Given the description of an element on the screen output the (x, y) to click on. 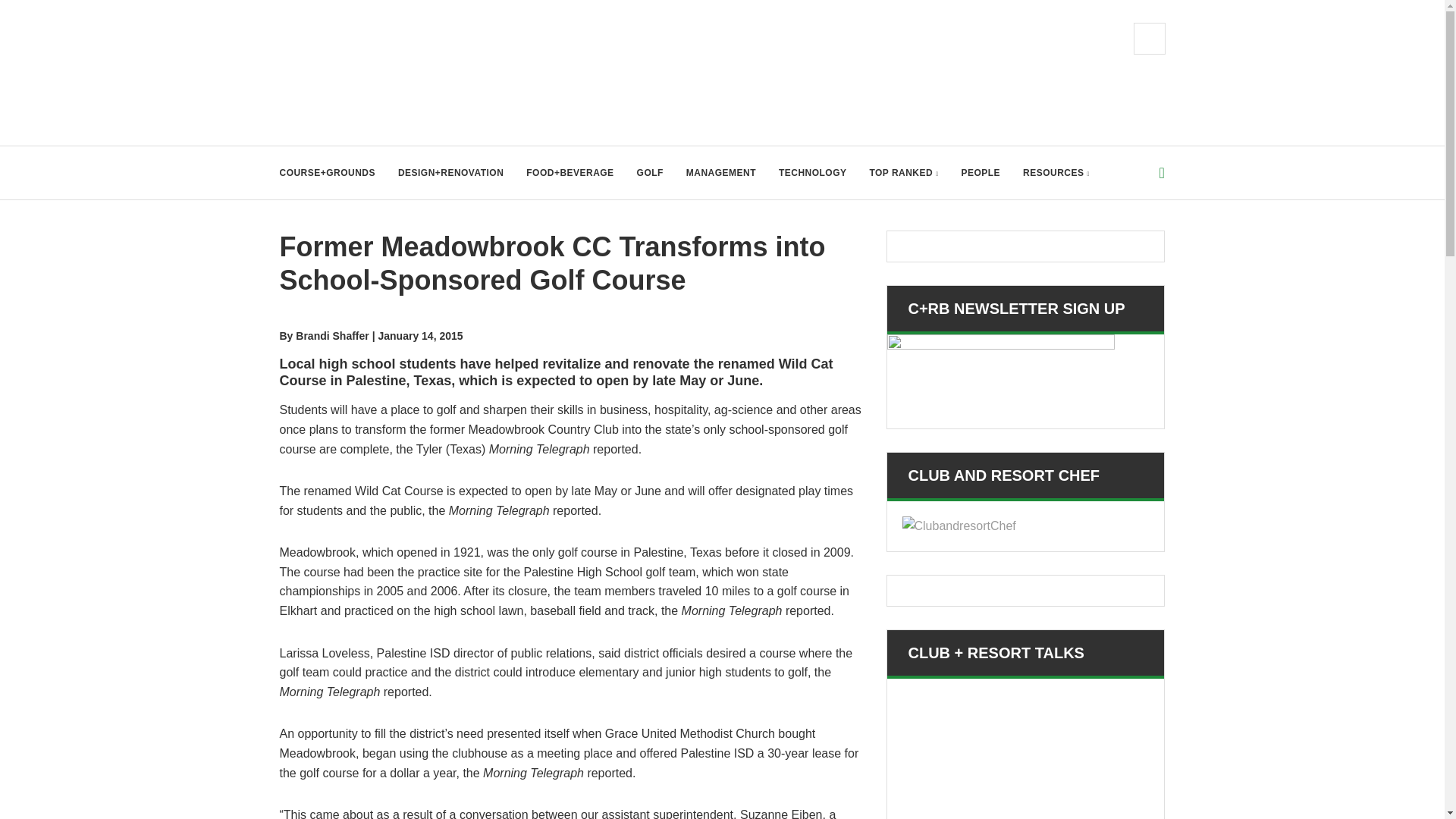
TECHNOLOGY (811, 172)
TOP RANKED (903, 172)
Brandi Shaffer (331, 336)
MANAGEMENT (720, 172)
RESOURCES (1056, 172)
